Given the description of an element on the screen output the (x, y) to click on. 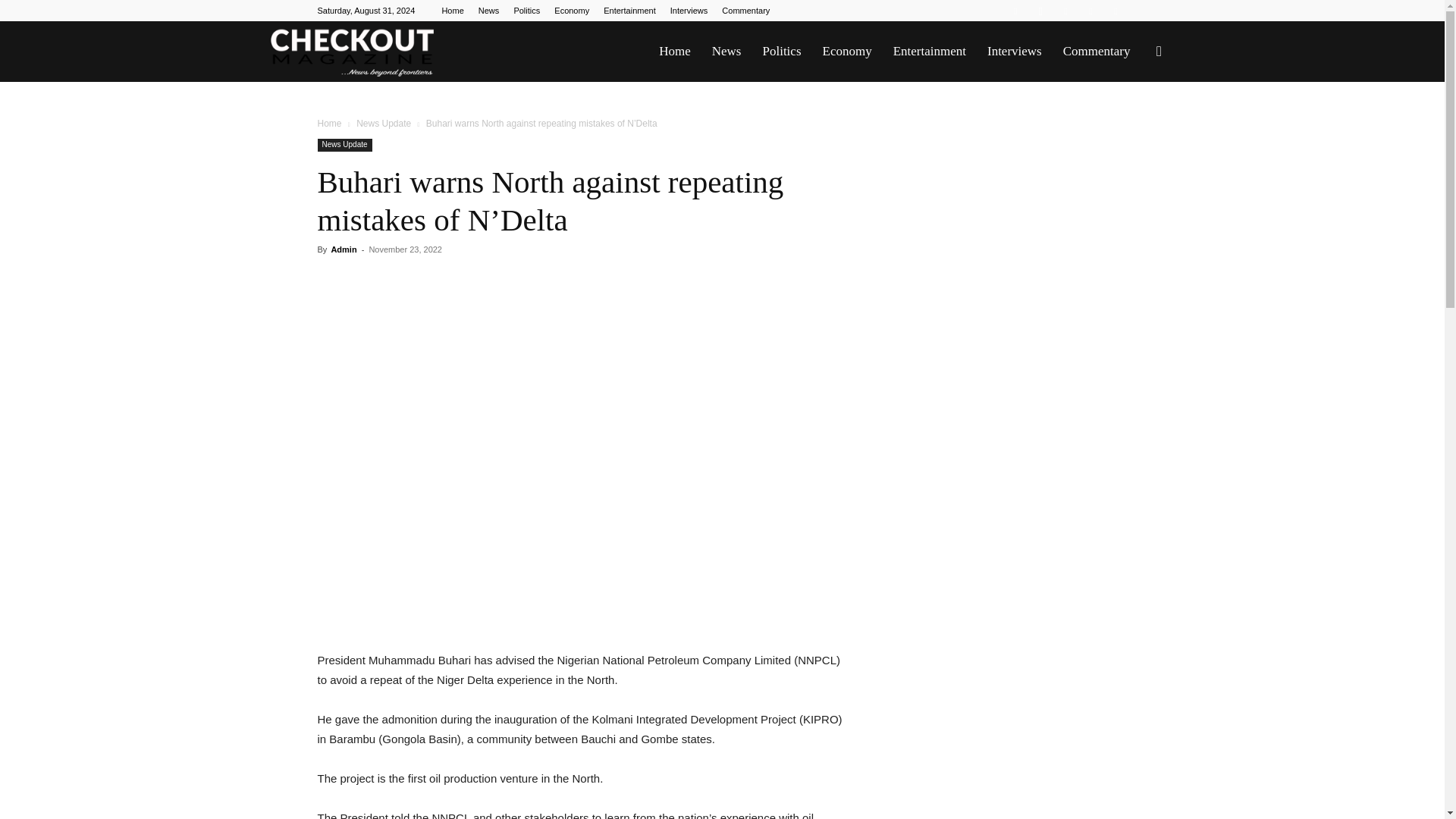
Commentary (746, 10)
Economy (571, 10)
Politics (780, 51)
Interviews (688, 10)
Economy (846, 51)
Entertainment (629, 10)
View all posts in News Update (383, 122)
Mail (1065, 10)
Commentary (1096, 51)
Instagram (1040, 10)
